Given the description of an element on the screen output the (x, y) to click on. 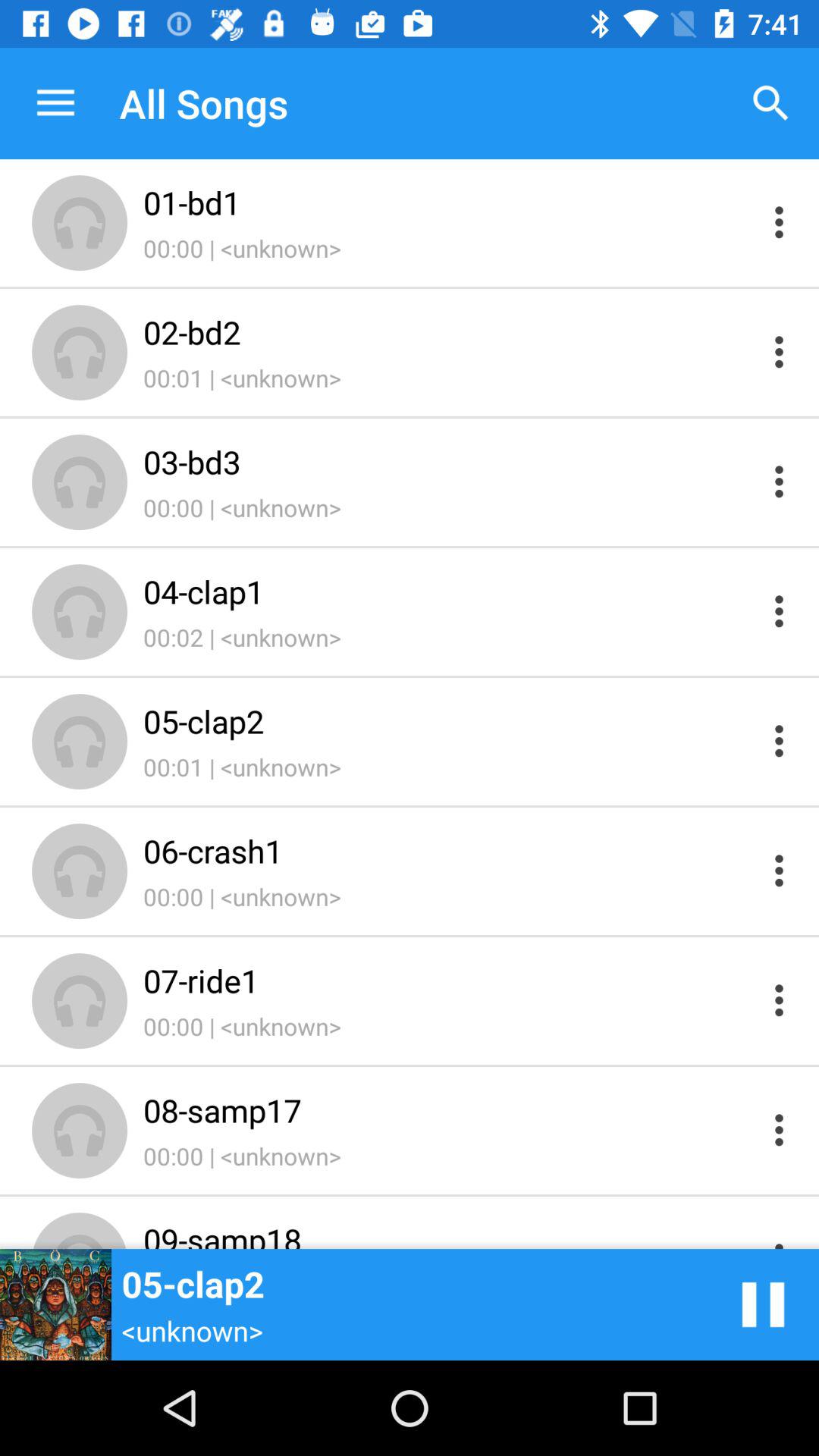
flip to 01-bd1 icon (449, 202)
